Given the description of an element on the screen output the (x, y) to click on. 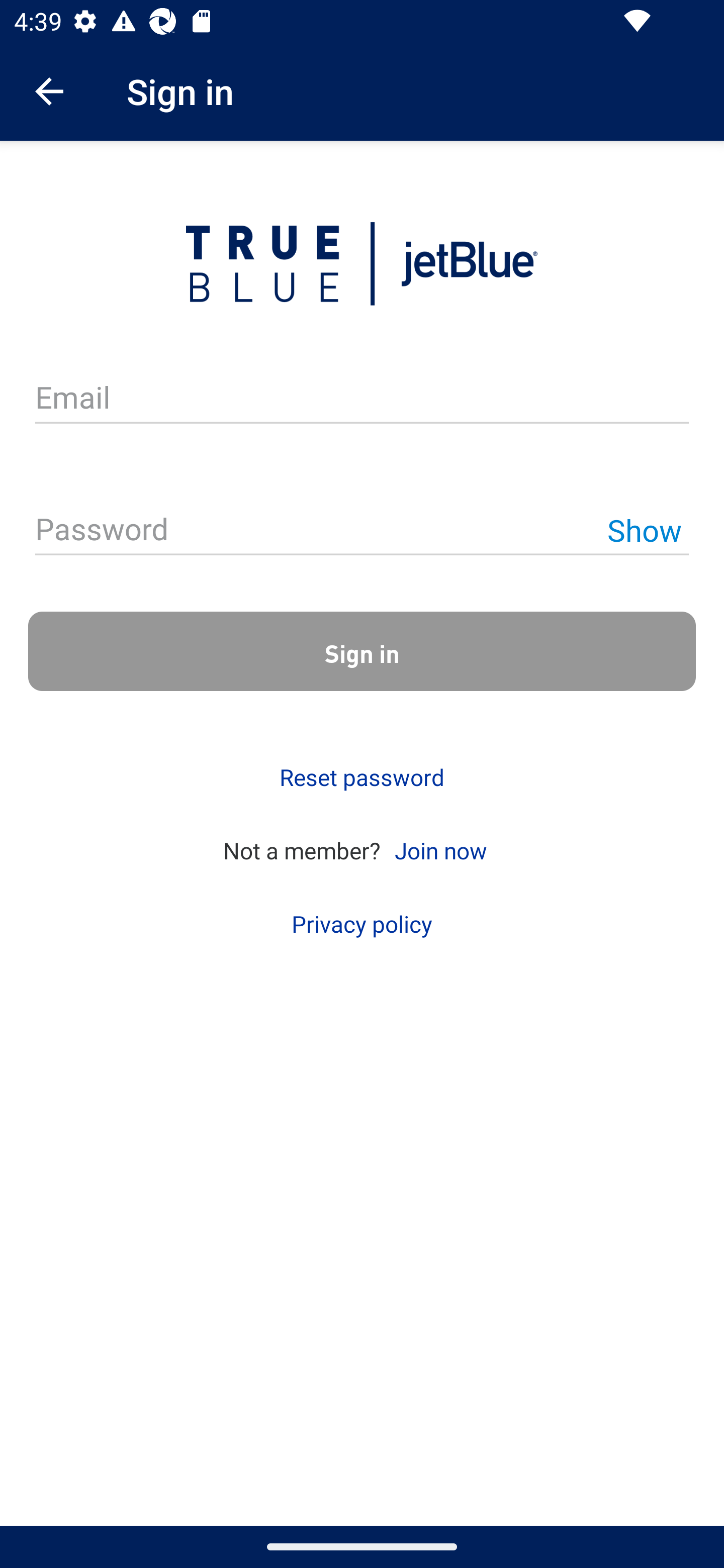
Navigate up (49, 91)
Email (361, 398)
Password (361, 530)
Show (643, 529)
Sign in (361, 651)
Reset password (361, 776)
Join now (440, 849)
Privacy policy (361, 923)
